Given the description of an element on the screen output the (x, y) to click on. 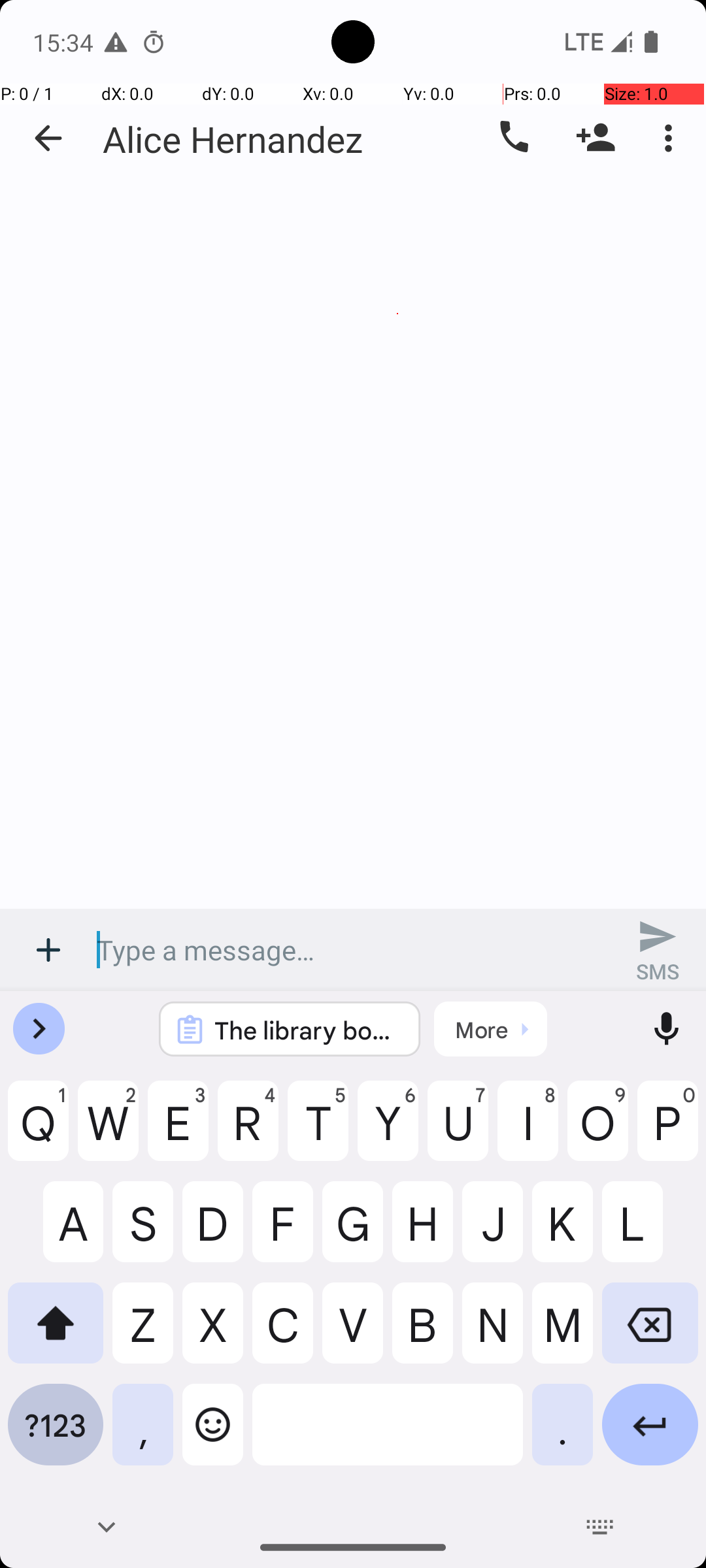
Alice Hernandez Element type: android.widget.TextView (232, 138)
The library book is due back on the 15th. Element type: android.widget.TextView (306, 1029)
